Given the description of an element on the screen output the (x, y) to click on. 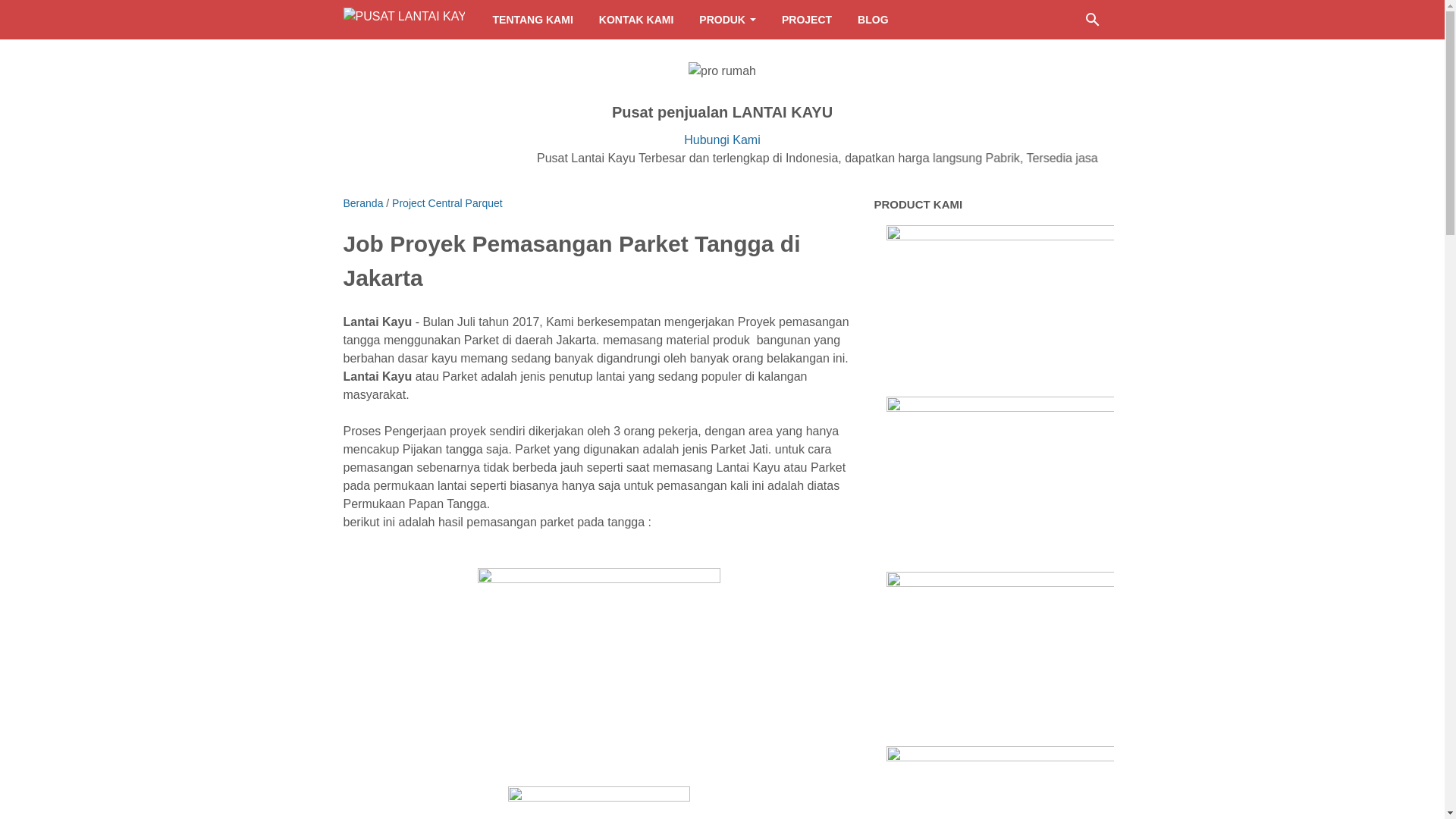
TENTANG KAMI Element type: text (532, 19)
Beranda Element type: text (362, 203)
Cari blog ini Element type: hover (1091, 19)
Hubungi Kami Element type: text (722, 139)
Project Central Parquet Element type: text (447, 203)
PROJECT Element type: text (806, 19)
PUSAT LANTAI KAYU Element type: hover (403, 19)
KONTAK KAMI Element type: text (636, 19)
BLOG Element type: text (872, 19)
PRODUK Element type: text (727, 19)
